Given the description of an element on the screen output the (x, y) to click on. 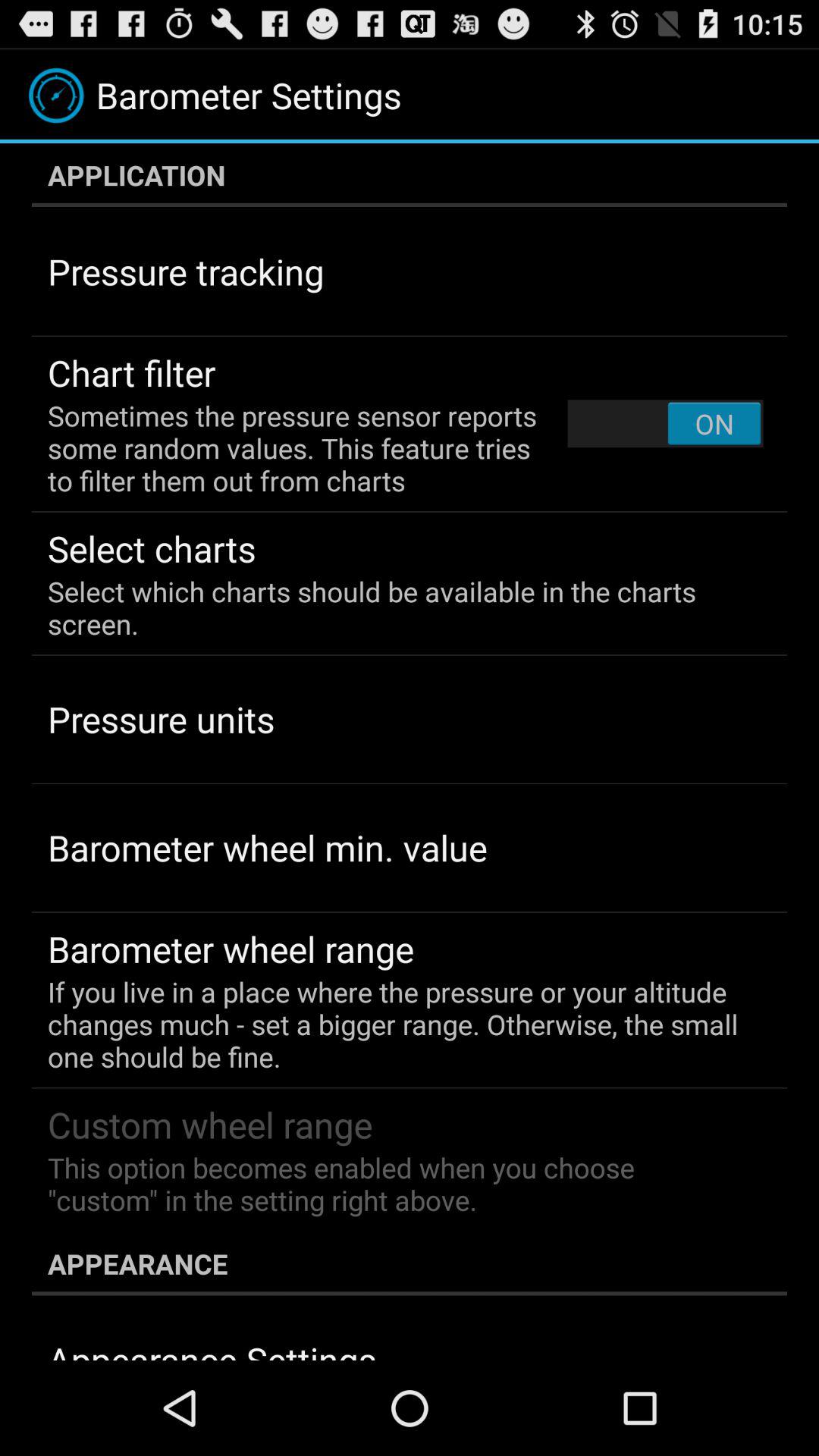
select item below the select which charts item (160, 719)
